Given the description of an element on the screen output the (x, y) to click on. 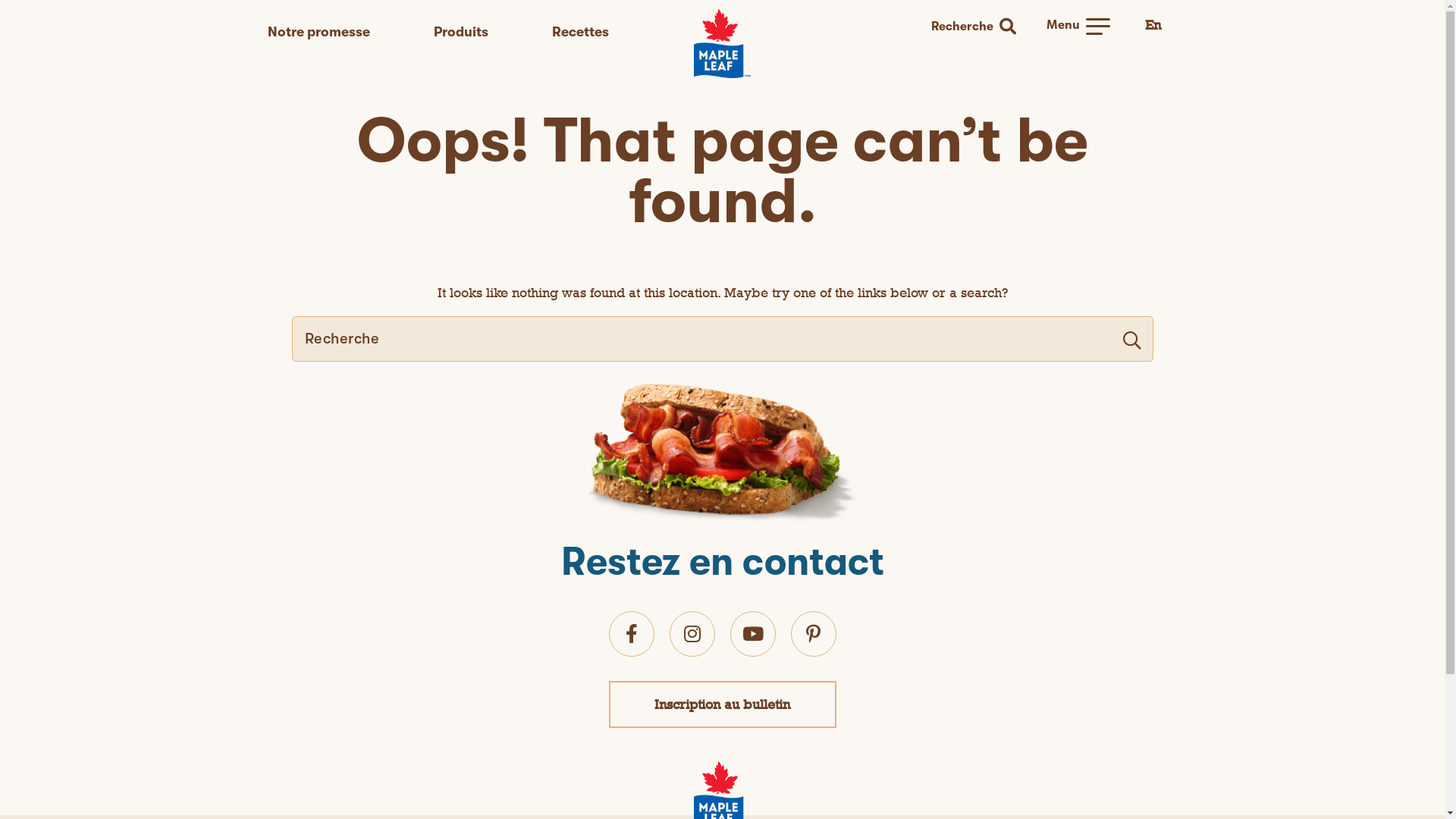
Produits Element type: text (460, 31)
Inscription au bulletin Element type: text (722, 704)
Recettes Element type: text (580, 31)
Recherche Element type: text (980, 27)
En Element type: text (1152, 25)
En Element type: text (1153, 24)
Notre promesse Element type: text (317, 31)
Inscription au bulletin Element type: text (721, 704)
